Given the description of an element on the screen output the (x, y) to click on. 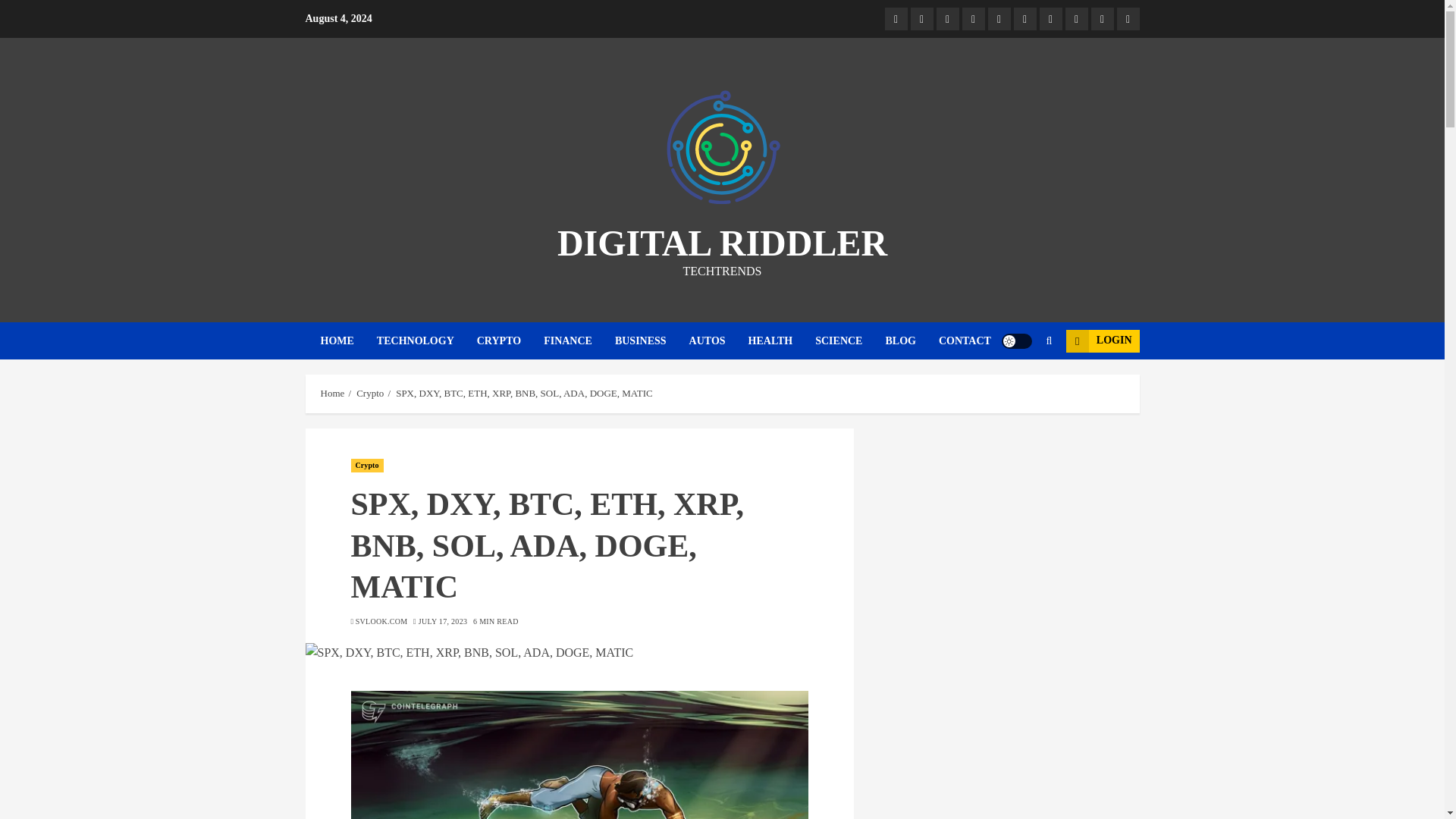
SPX, DXY, BTC, ETH, XRP, BNB, SOL, ADA, DOGE, MATIC (579, 755)
SCIENCE (850, 340)
CRYPTO (510, 340)
HOME (347, 340)
AUTOS (718, 340)
HEALTH (781, 340)
DIGITAL RIDDLER (721, 242)
SPX, DXY, BTC, ETH, XRP, BNB, SOL, ADA, DOGE, MATIC (578, 652)
BUSINESS (651, 340)
FINANCE (578, 340)
